Given the description of an element on the screen output the (x, y) to click on. 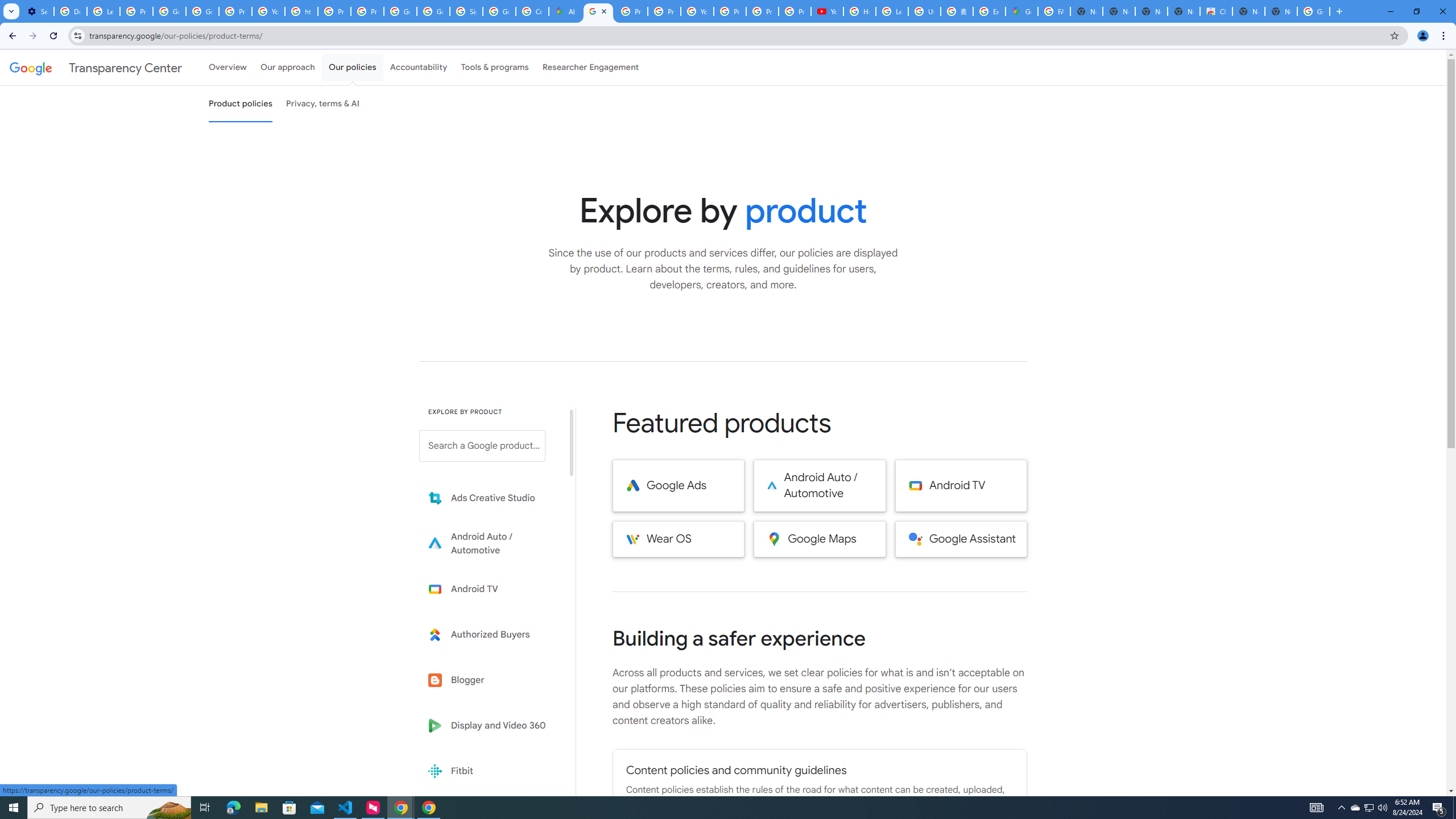
Transparency Center (95, 67)
Learn more about Ads Creative Studio (490, 497)
Our approach (287, 67)
Learn more about Ads Creative Studio (490, 497)
How Chrome protects your passwords - Google Chrome Help (859, 11)
Privacy Checkup (762, 11)
